Given the description of an element on the screen output the (x, y) to click on. 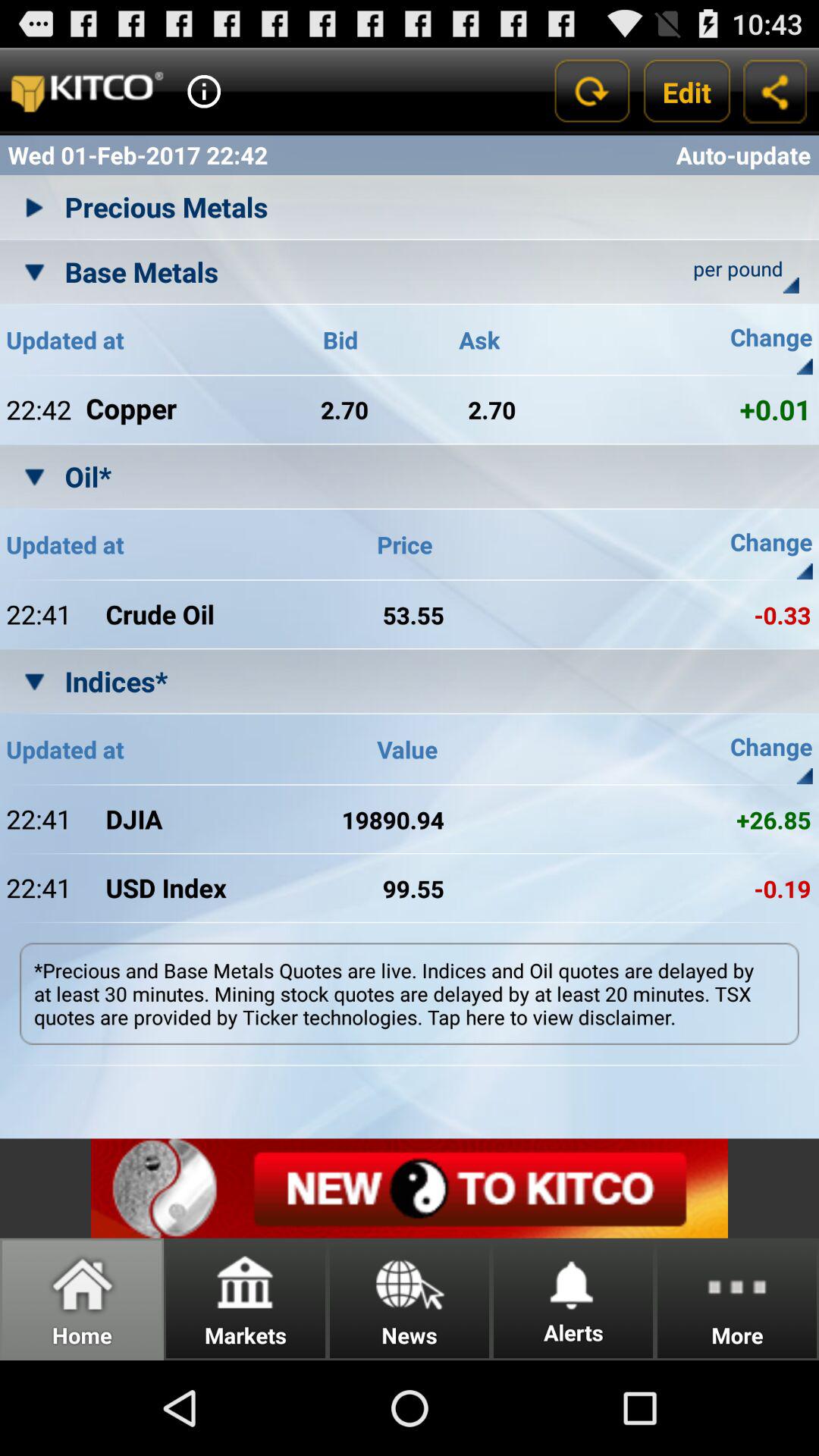
go back (591, 91)
